Given the description of an element on the screen output the (x, y) to click on. 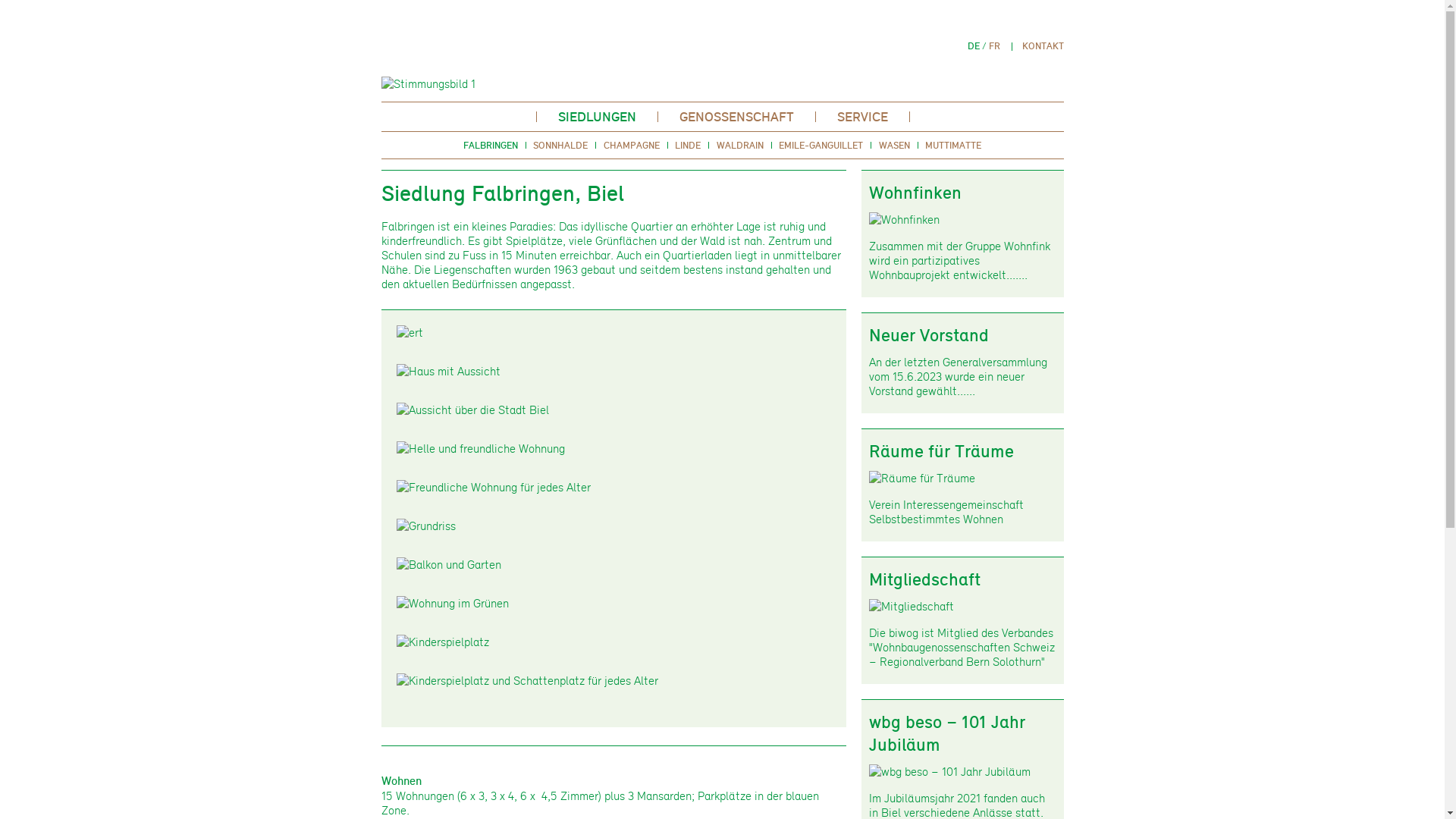
SIEDLUNGEN Element type: text (596, 116)
SERVICE Element type: text (862, 116)
WALDRAIN Element type: text (740, 144)
EMILE-GANGUILLET Element type: text (821, 144)
FALBRINGEN Element type: text (490, 144)
LINDE Element type: text (687, 144)
GENOSSENSCHAFT Element type: text (736, 116)
KONTAKT Element type: text (1042, 45)
BIWOG Element type: text (432, 38)
BIWOG Element type: text (721, 38)
SONNHALDE Element type: text (561, 144)
MUTTIMATTE Element type: text (952, 144)
DE Element type: text (973, 45)
FR Element type: text (994, 45)
CHAMPAGNE Element type: text (631, 144)
WASEN Element type: text (894, 144)
